Given the description of an element on the screen output the (x, y) to click on. 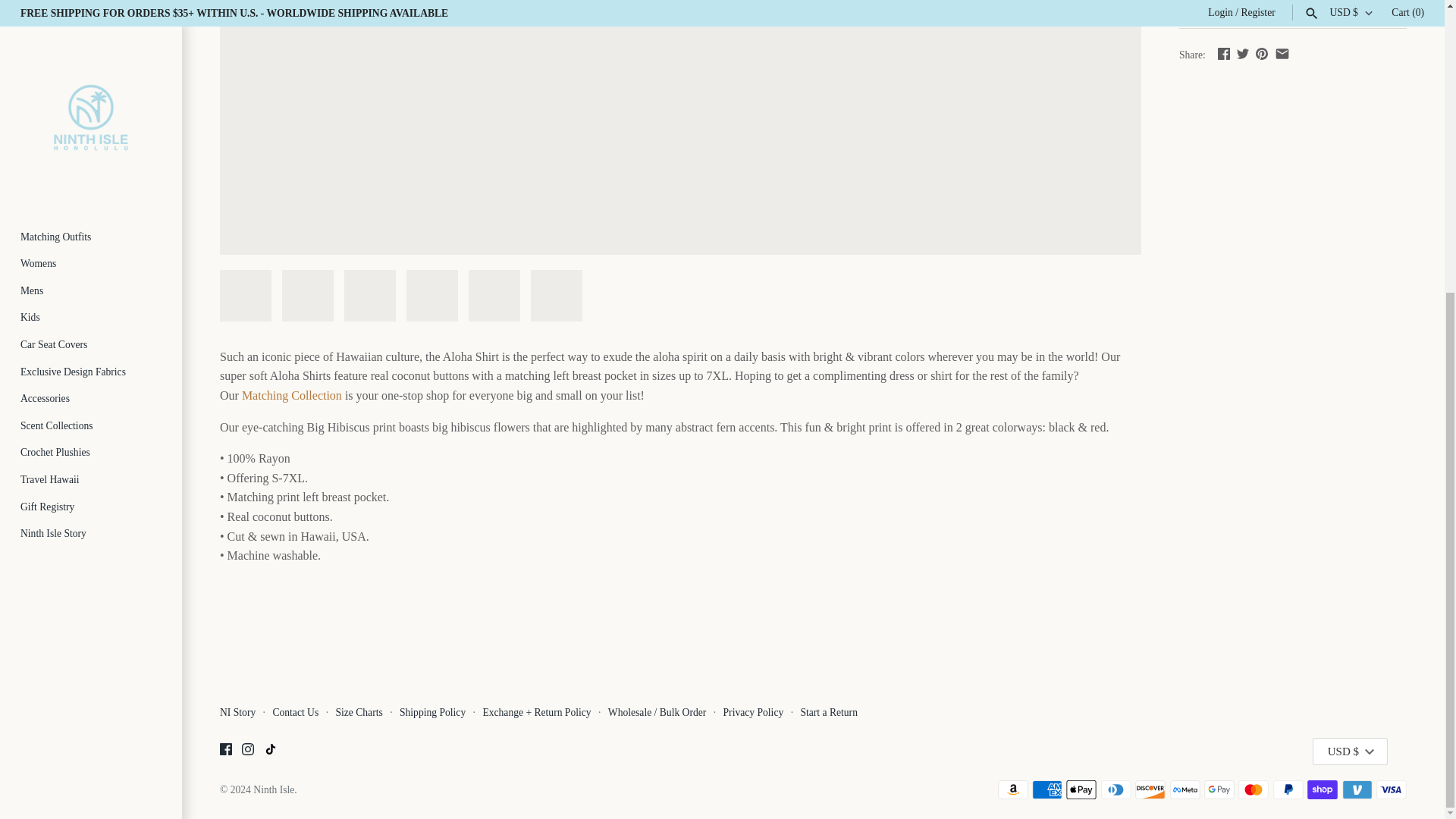
American Express (1047, 789)
Twitter (1242, 53)
Share on Twitter (1242, 52)
Email (1282, 53)
Share on Facebook (1223, 52)
Instagram (247, 748)
Mastercard (1253, 789)
Facebook (225, 751)
Facebook (1223, 53)
